Given the description of an element on the screen output the (x, y) to click on. 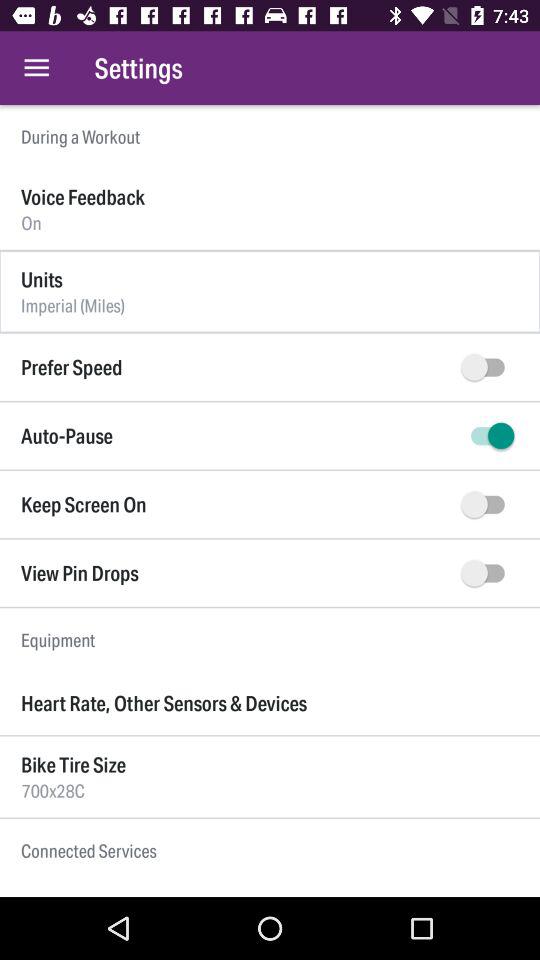
toggle auto pause option (487, 435)
